Given the description of an element on the screen output the (x, y) to click on. 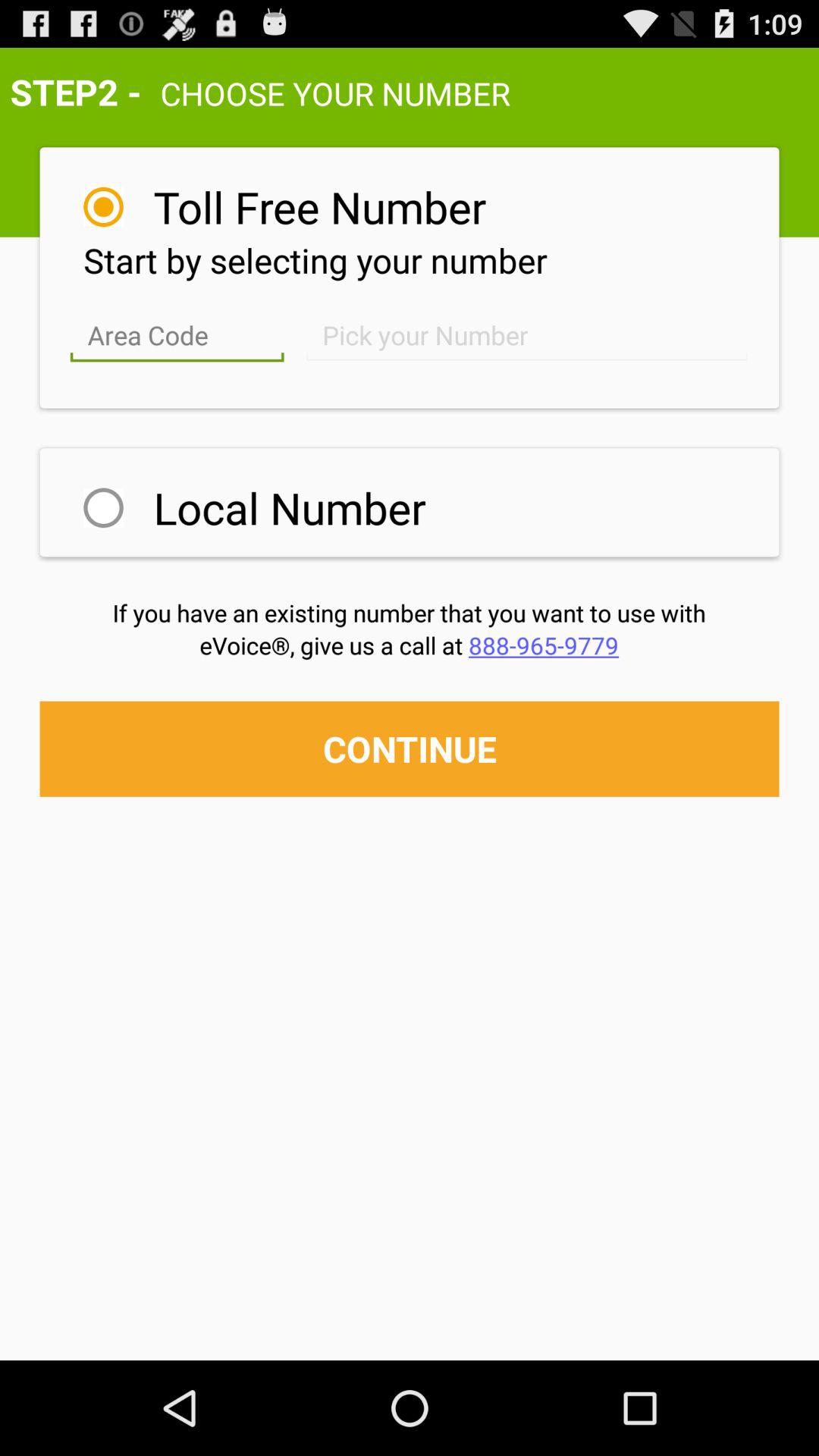
tap icon above continue button (408, 645)
